Given the description of an element on the screen output the (x, y) to click on. 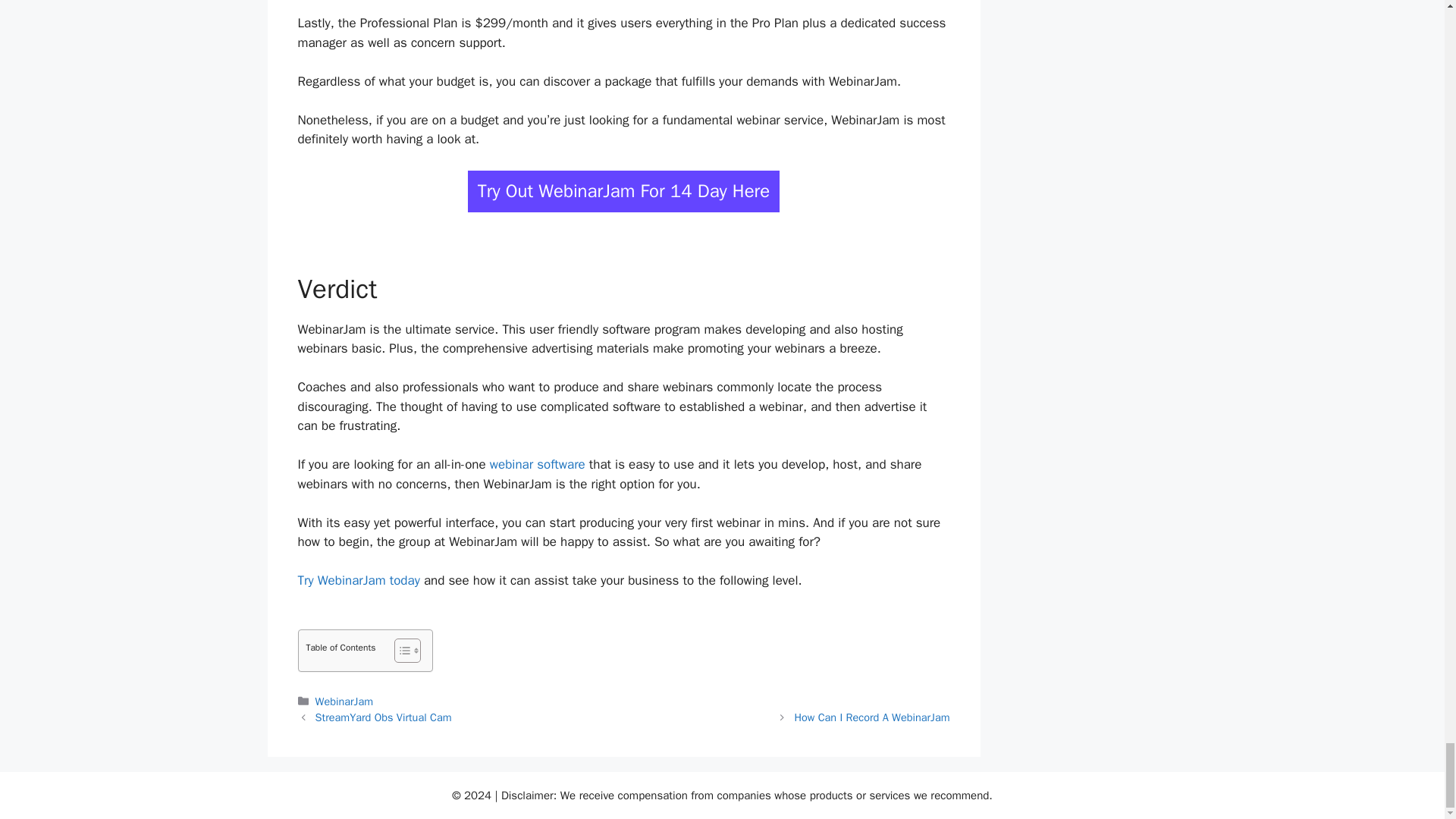
Try Out WebinarJam For 14 Day Here (622, 191)
webinar software (537, 464)
Try WebinarJam today (358, 580)
